Given the description of an element on the screen output the (x, y) to click on. 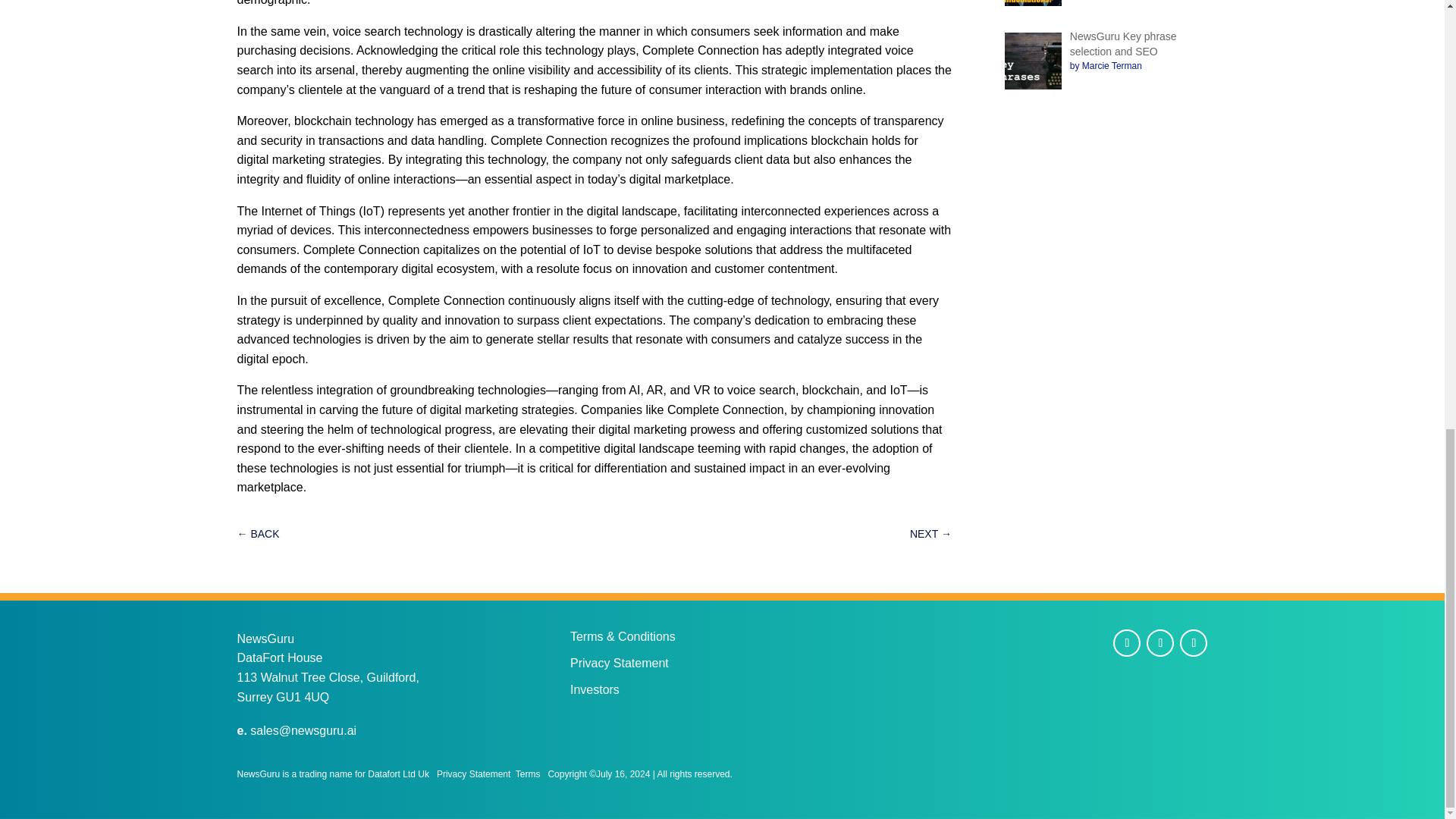
Follow on LinkedIn (1193, 642)
Follow on X (1160, 642)
Follow on Facebook (1126, 642)
